Given the description of an element on the screen output the (x, y) to click on. 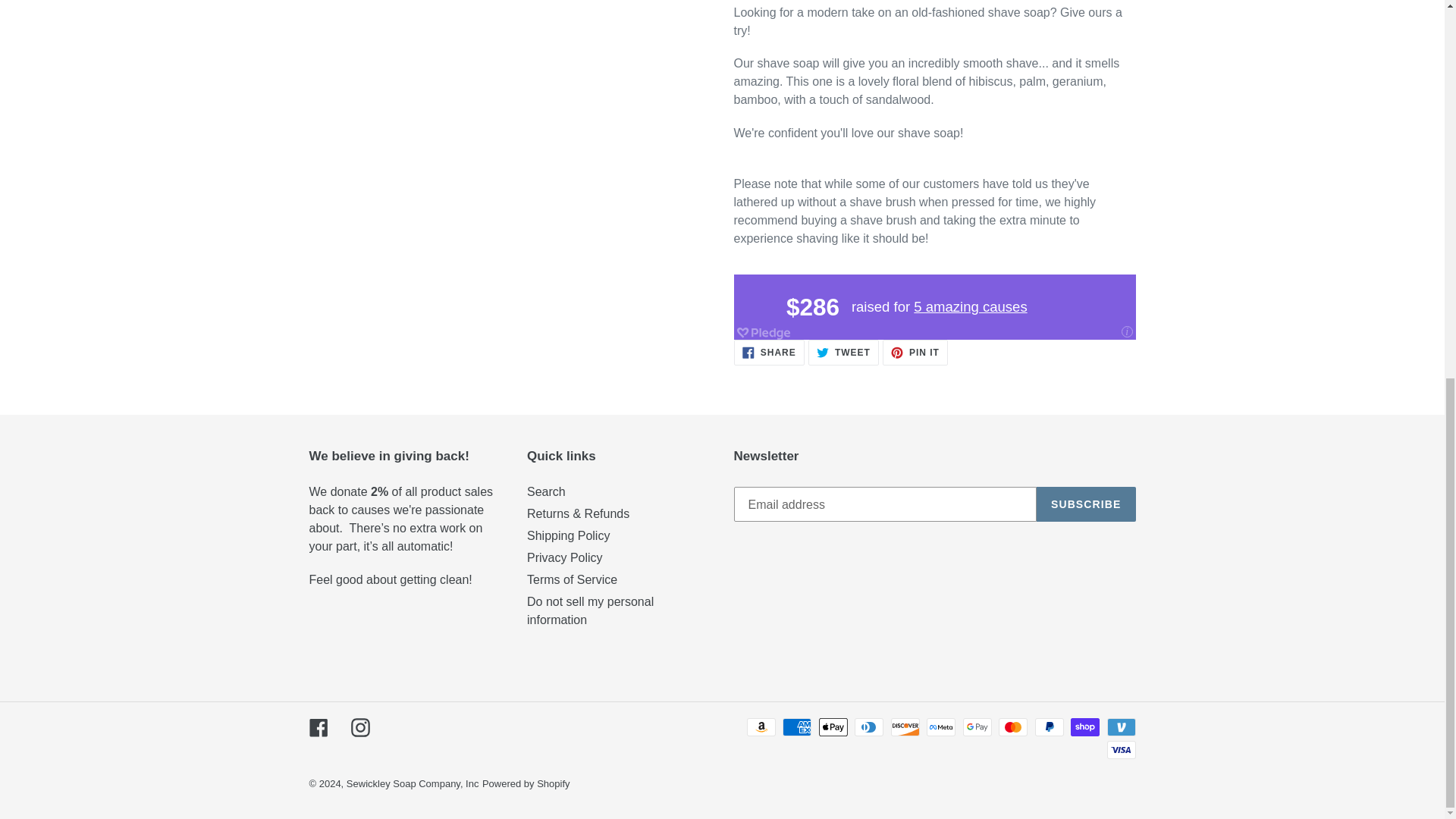
Sewickley Soap Company, Inc (914, 352)
Instagram (412, 783)
Privacy Policy (359, 727)
SUBSCRIBE (564, 557)
Terms of Service (843, 352)
Search (1085, 503)
Facebook (572, 579)
Shipping Policy (546, 491)
